Given the description of an element on the screen output the (x, y) to click on. 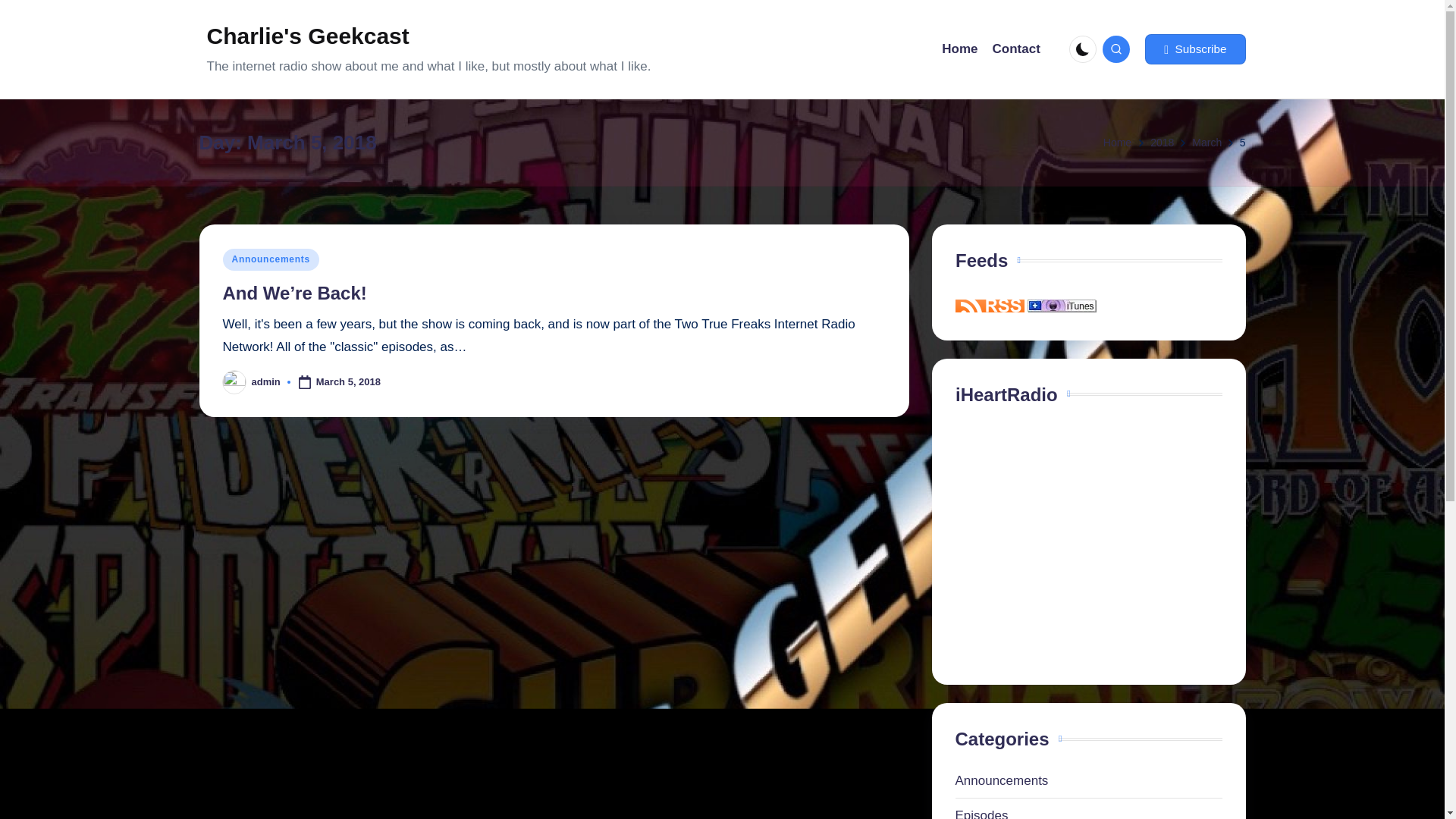
Announcements (270, 259)
admin (266, 381)
Home (1117, 142)
iTunes Feed (1061, 305)
Announcements (1089, 781)
Charlie's Geekcast (428, 36)
March (1206, 142)
Home (959, 48)
Episodes (1089, 812)
View all posts by admin (266, 381)
